Given the description of an element on the screen output the (x, y) to click on. 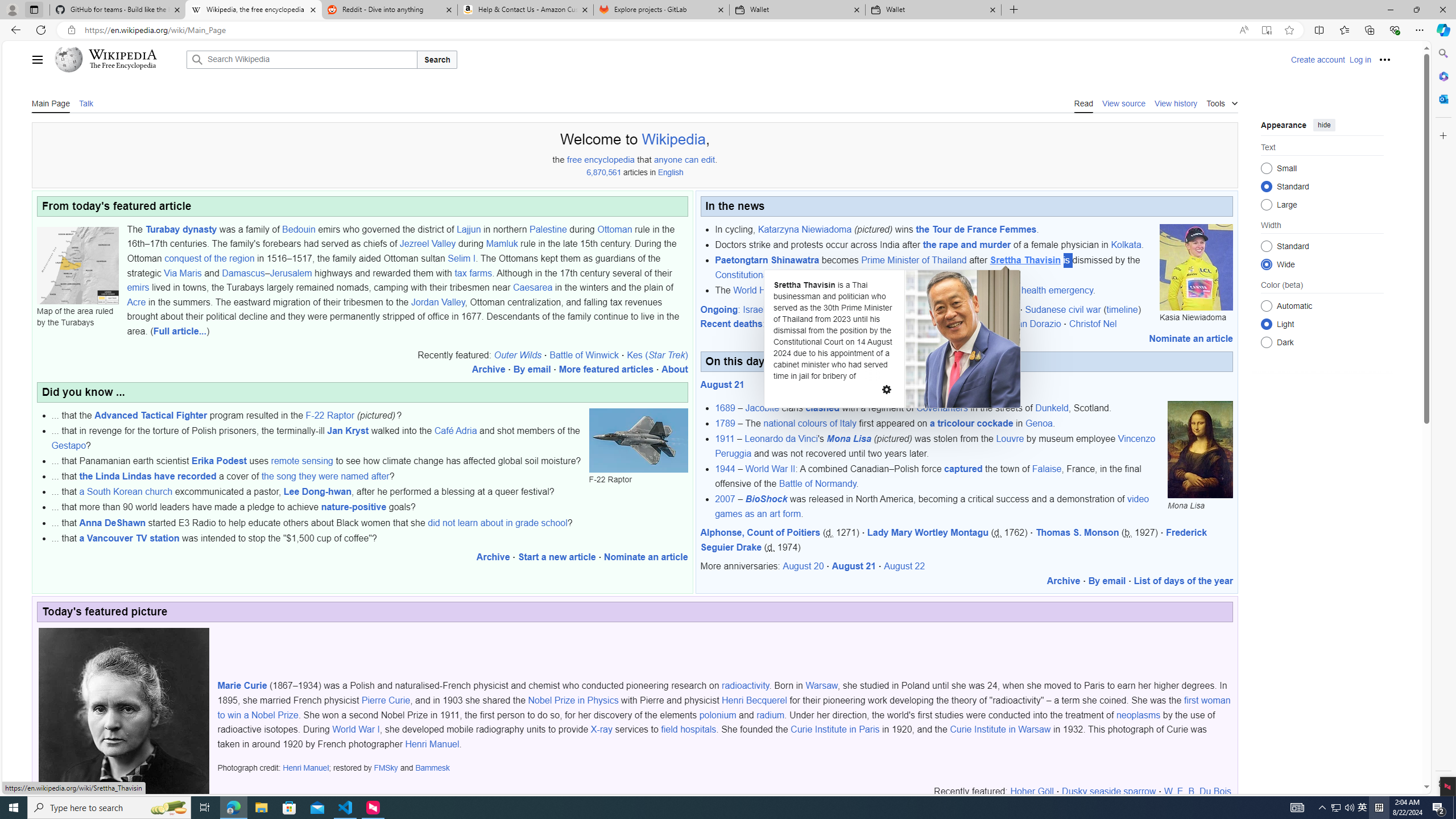
Henri Manuel (305, 768)
hide (1324, 124)
